Given the description of an element on the screen output the (x, y) to click on. 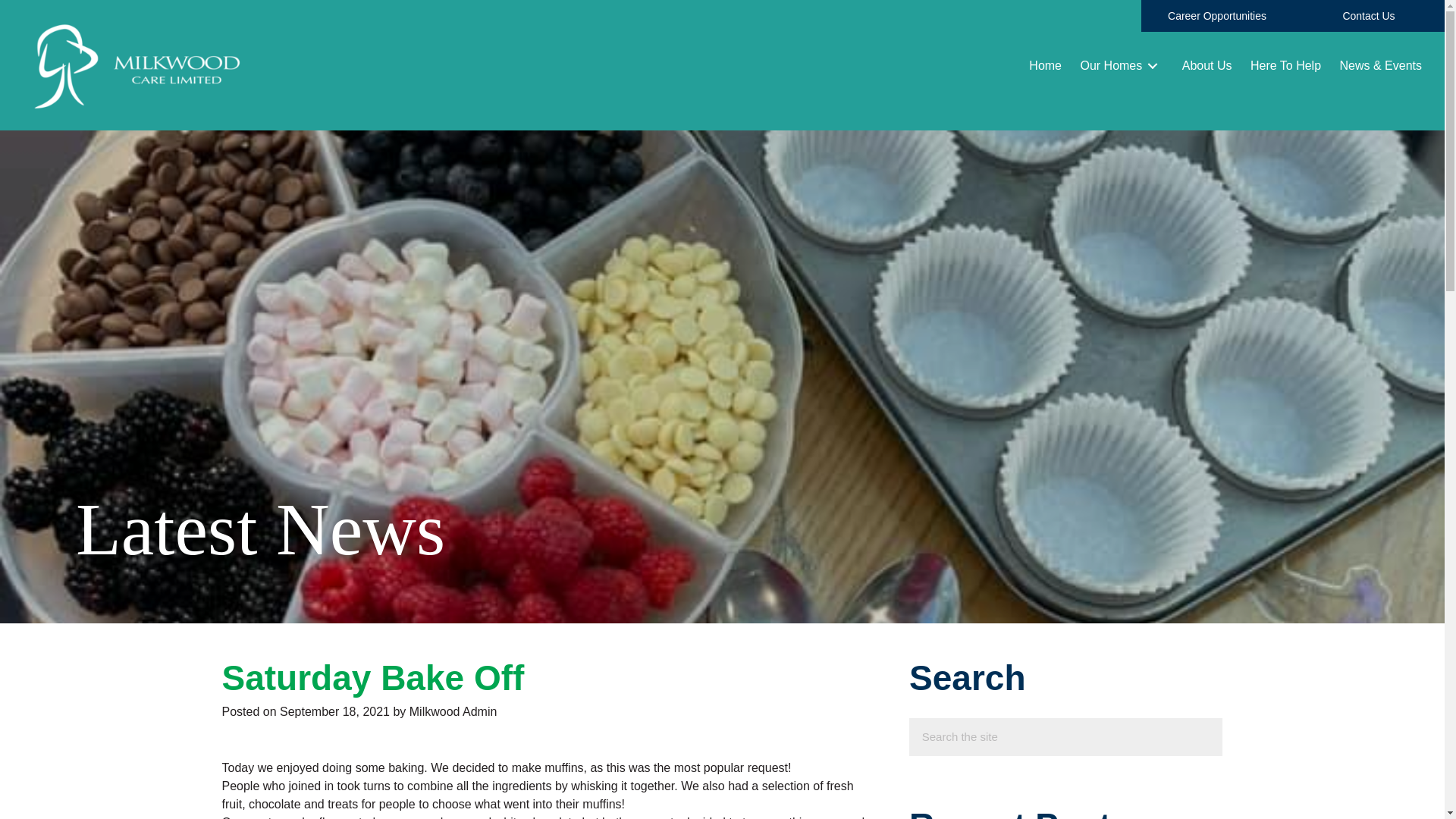
Here To Help (1285, 65)
Search (1046, 736)
Our Homes (1120, 65)
About Us (1207, 65)
Career Opportunities (1216, 15)
Home (1045, 65)
